Given the description of an element on the screen output the (x, y) to click on. 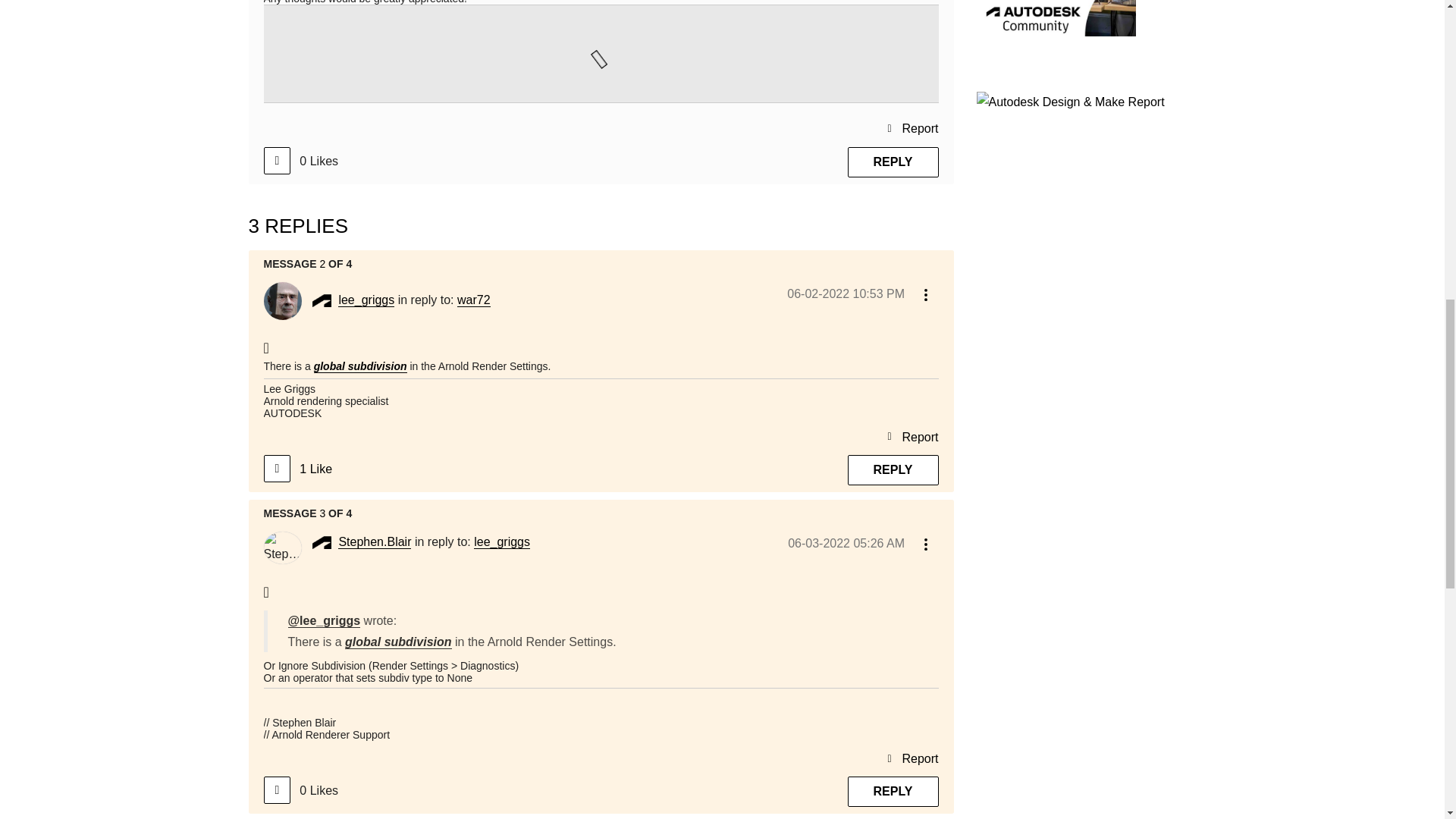
Report (911, 127)
war72 (473, 300)
REPLY (893, 162)
